Given the description of an element on the screen output the (x, y) to click on. 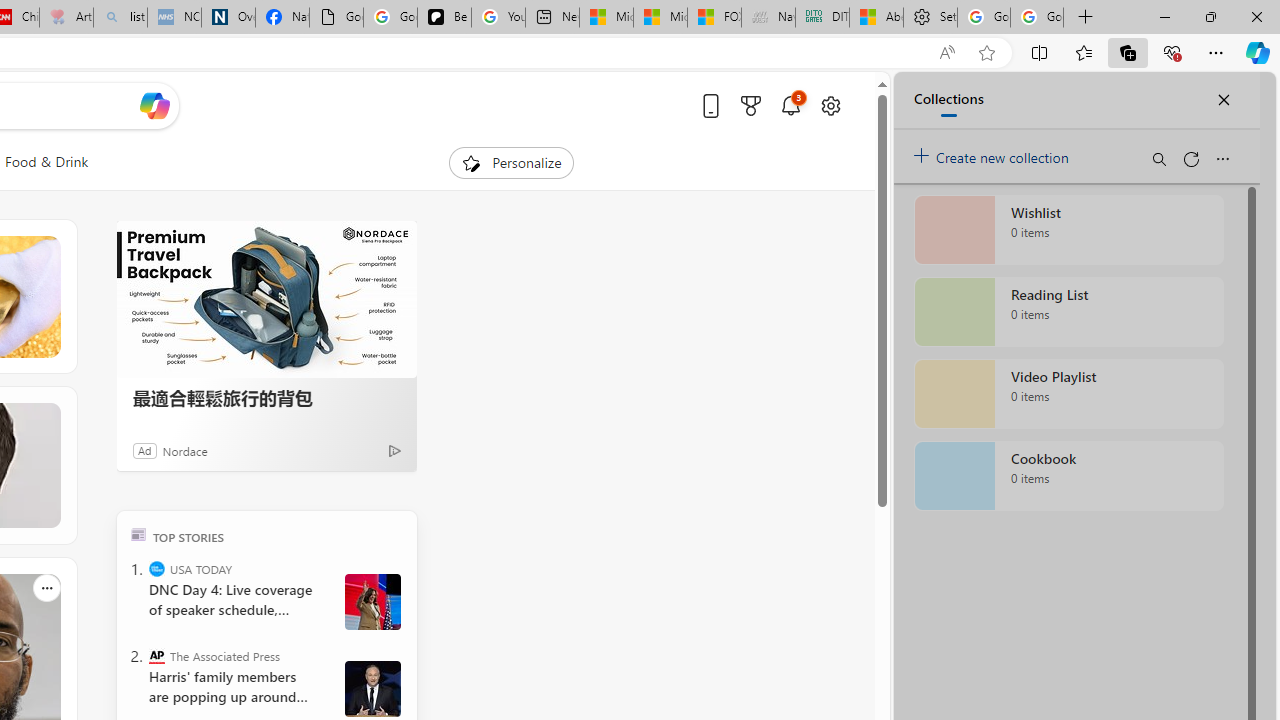
Food & Drink (47, 162)
Be Smart | creating Science videos | Patreon (444, 17)
Aberdeen, Hong Kong SAR hourly forecast | Microsoft Weather (875, 17)
